Given the description of an element on the screen output the (x, y) to click on. 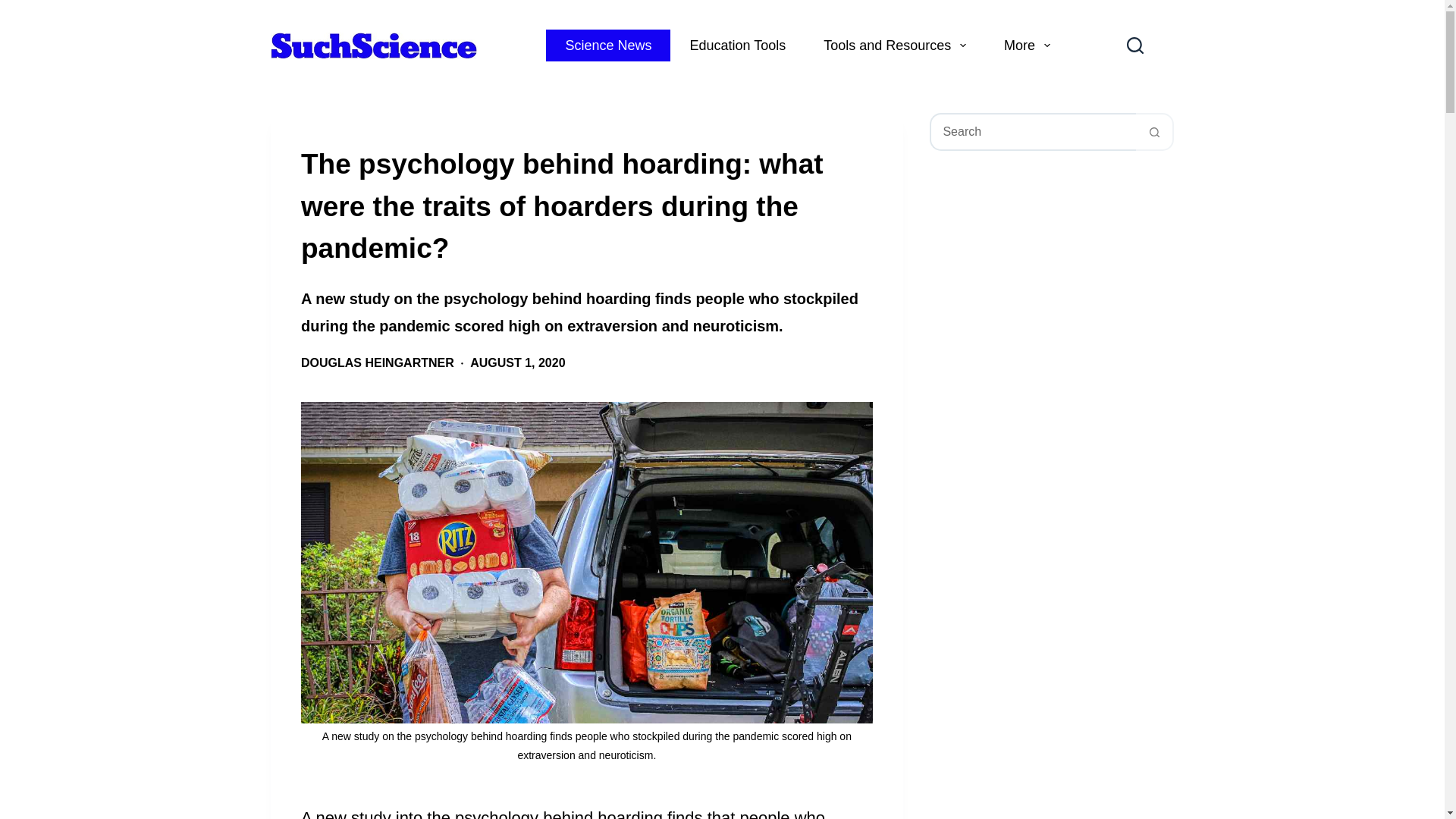
Education Tools (737, 45)
Skip to content (15, 7)
Science News (607, 45)
Search for... (1032, 131)
More (1026, 45)
Tools and Resources (895, 45)
Posts by Douglas Heingartner (377, 362)
